Given the description of an element on the screen output the (x, y) to click on. 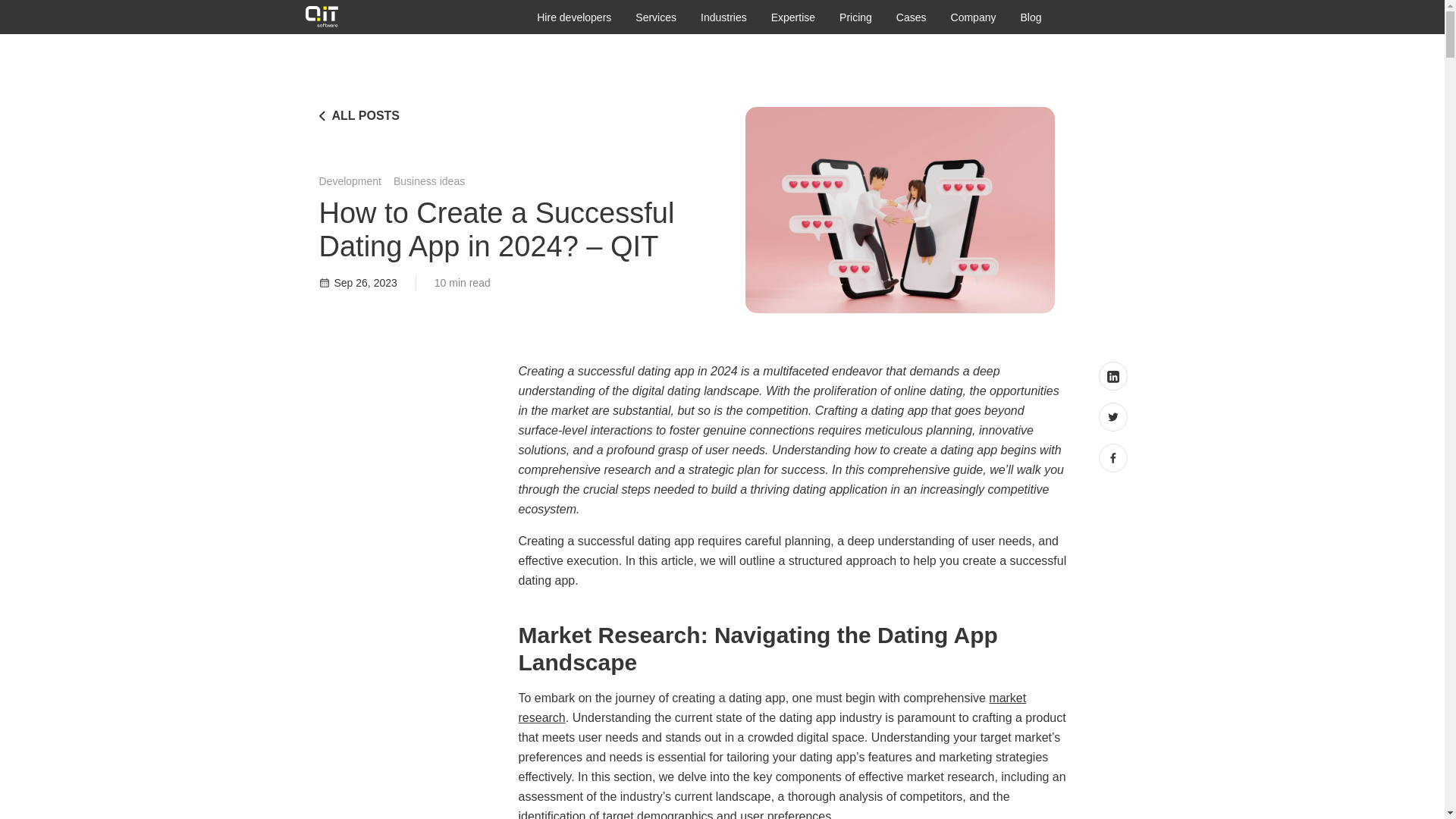
Industries (723, 16)
Hire developers (574, 16)
Expertise (793, 16)
Pricing (856, 16)
Blog (1030, 16)
Services (655, 16)
Cases (911, 16)
Company (972, 16)
